Given the description of an element on the screen output the (x, y) to click on. 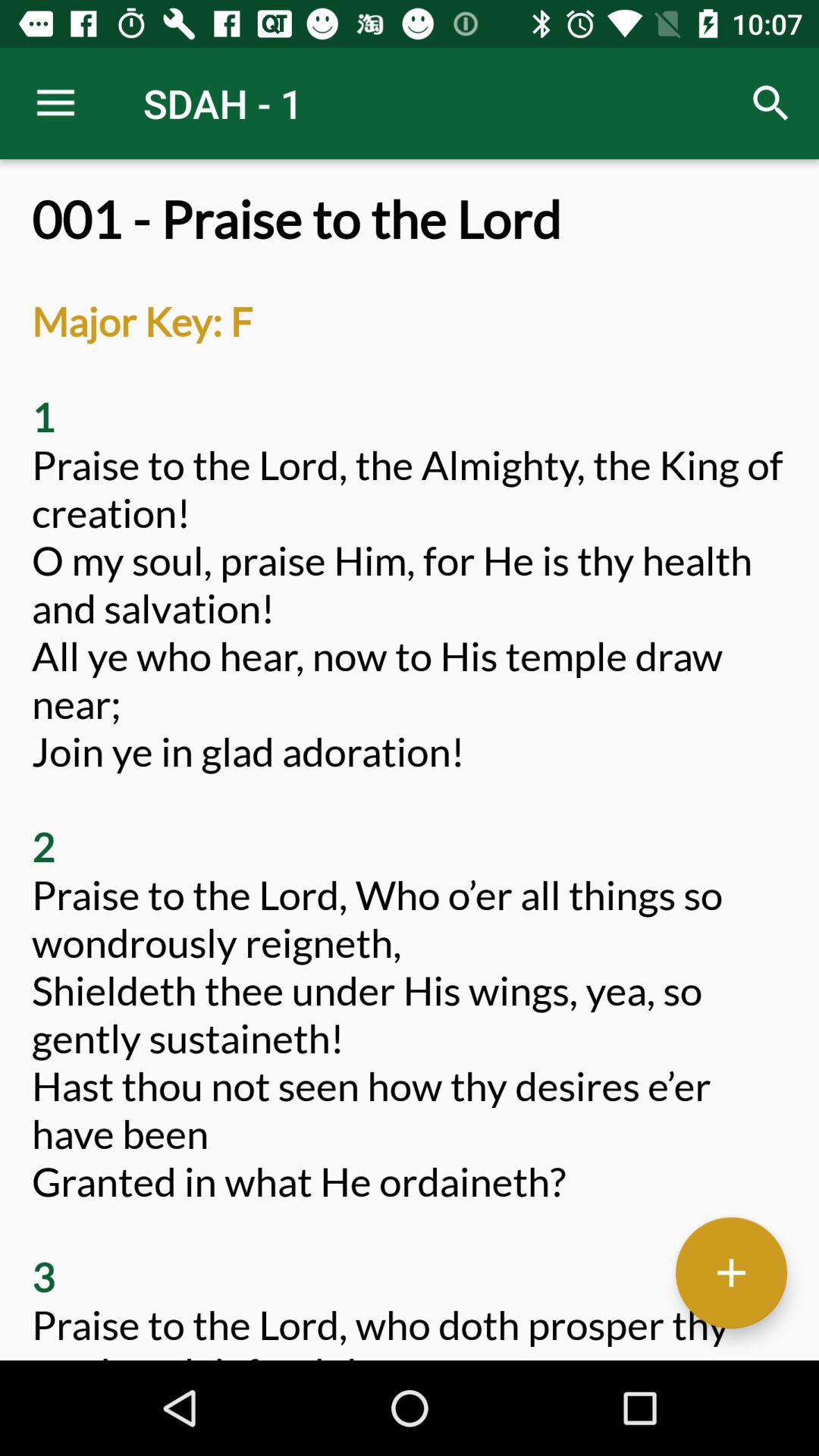
turn on icon to the left of the sdah - 1 (55, 103)
